Given the description of an element on the screen output the (x, y) to click on. 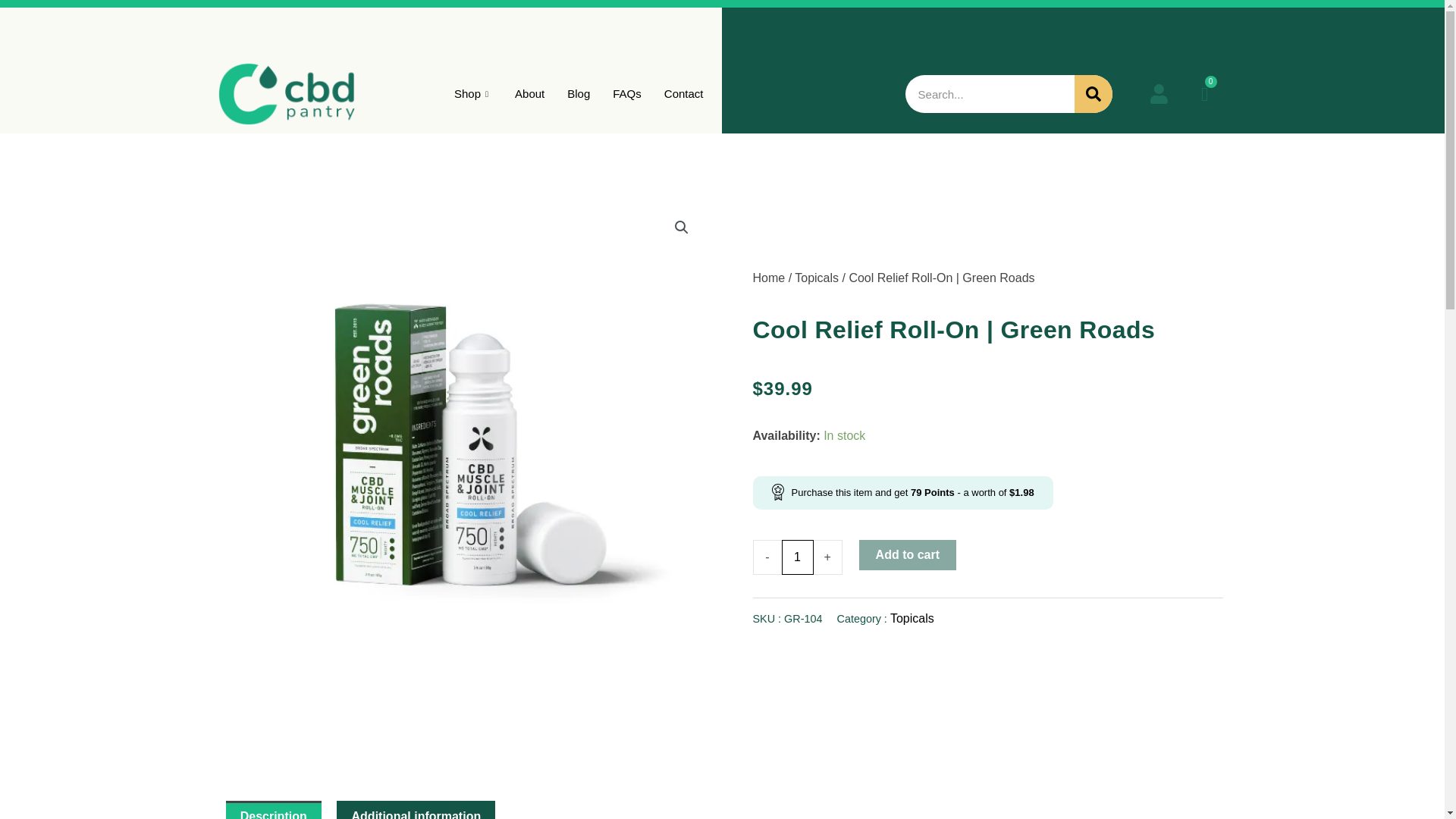
Search (1093, 94)
Shop (472, 94)
Contact (683, 94)
1 (796, 556)
Blog (578, 94)
Search (989, 94)
FAQs (626, 94)
About (529, 94)
